Given the description of an element on the screen output the (x, y) to click on. 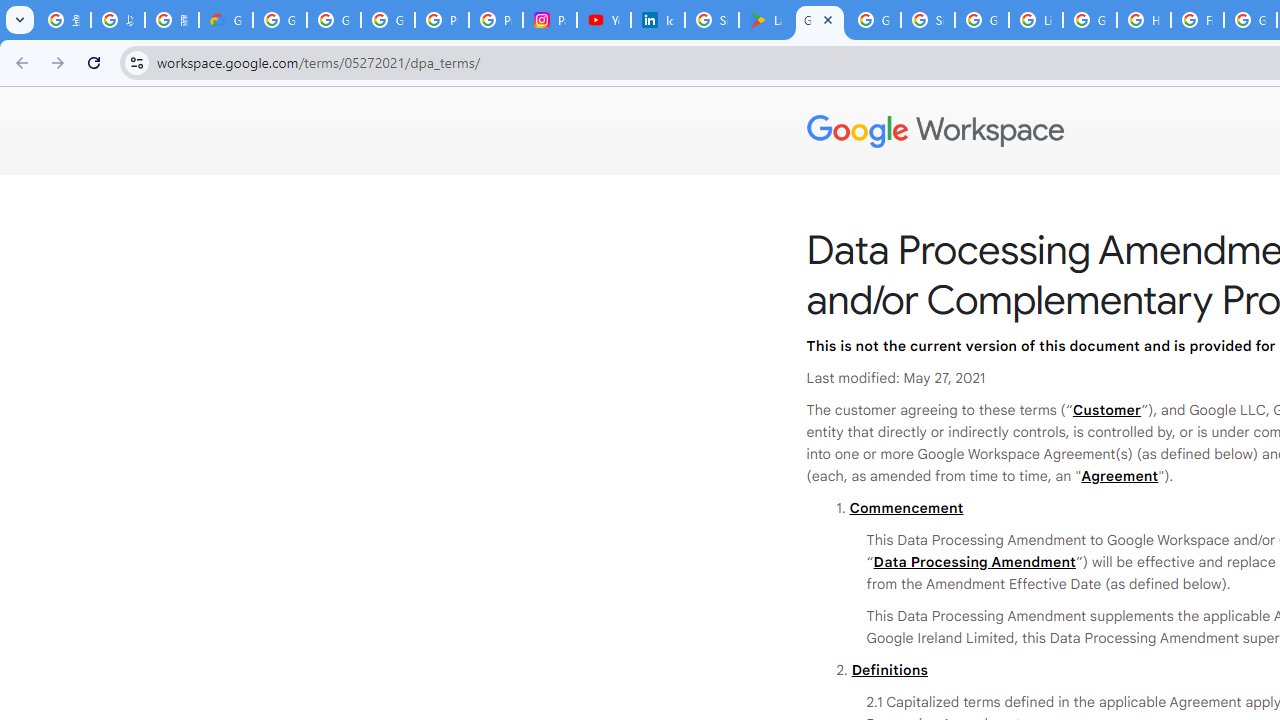
Last Shelter: Survival - Apps on Google Play (765, 20)
Sign in - Google Accounts (927, 20)
Google Workspace - Specific Terms (874, 20)
Sign in - Google Accounts (711, 20)
